Given the description of an element on the screen output the (x, y) to click on. 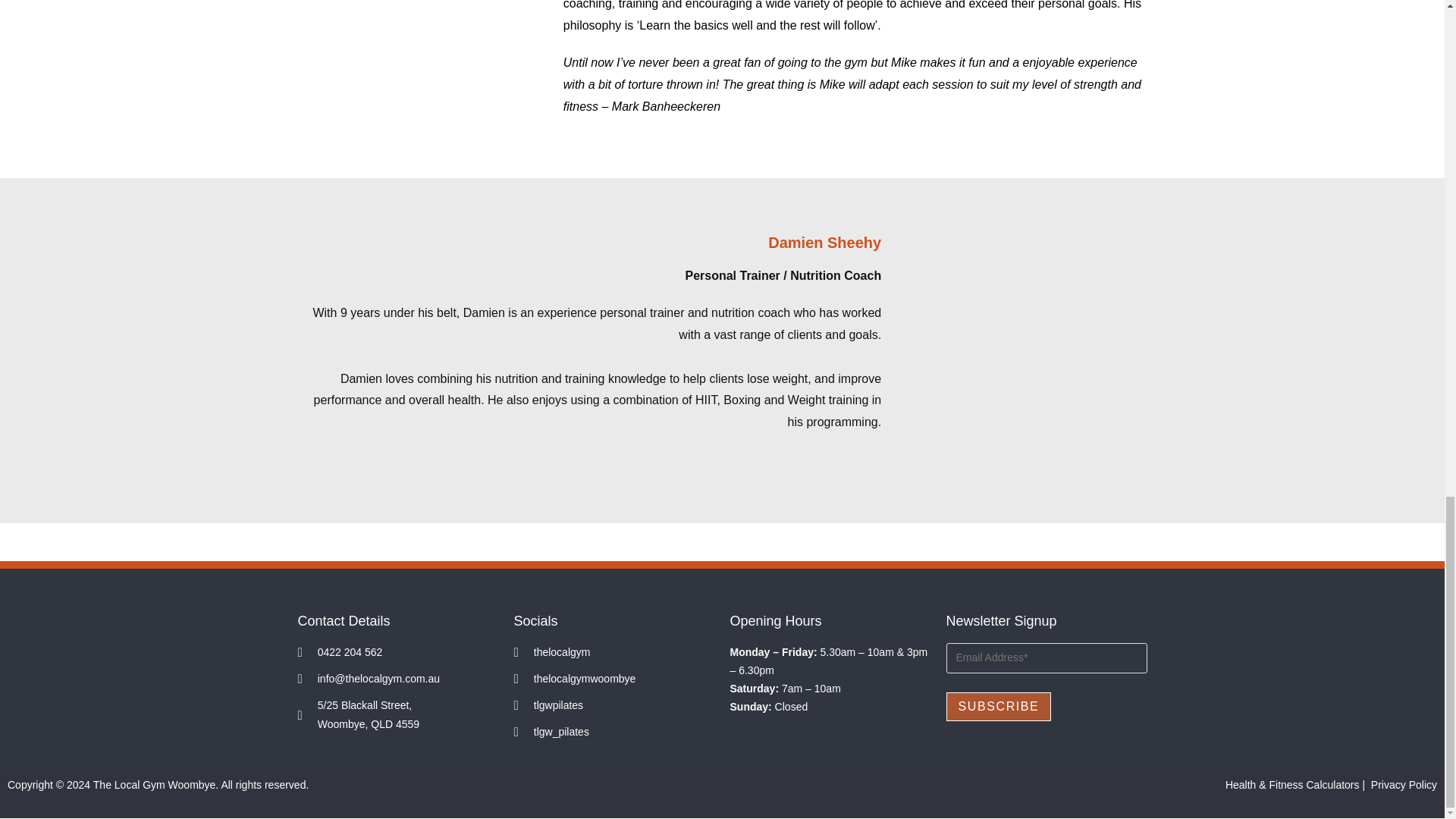
tlgwpilates (613, 705)
0422 204 562 (397, 651)
Subscribe (998, 706)
Privacy Policy (1404, 784)
thelocalgymwoombye (613, 678)
thelocalgym (613, 651)
Subscribe (998, 706)
